Given the description of an element on the screen output the (x, y) to click on. 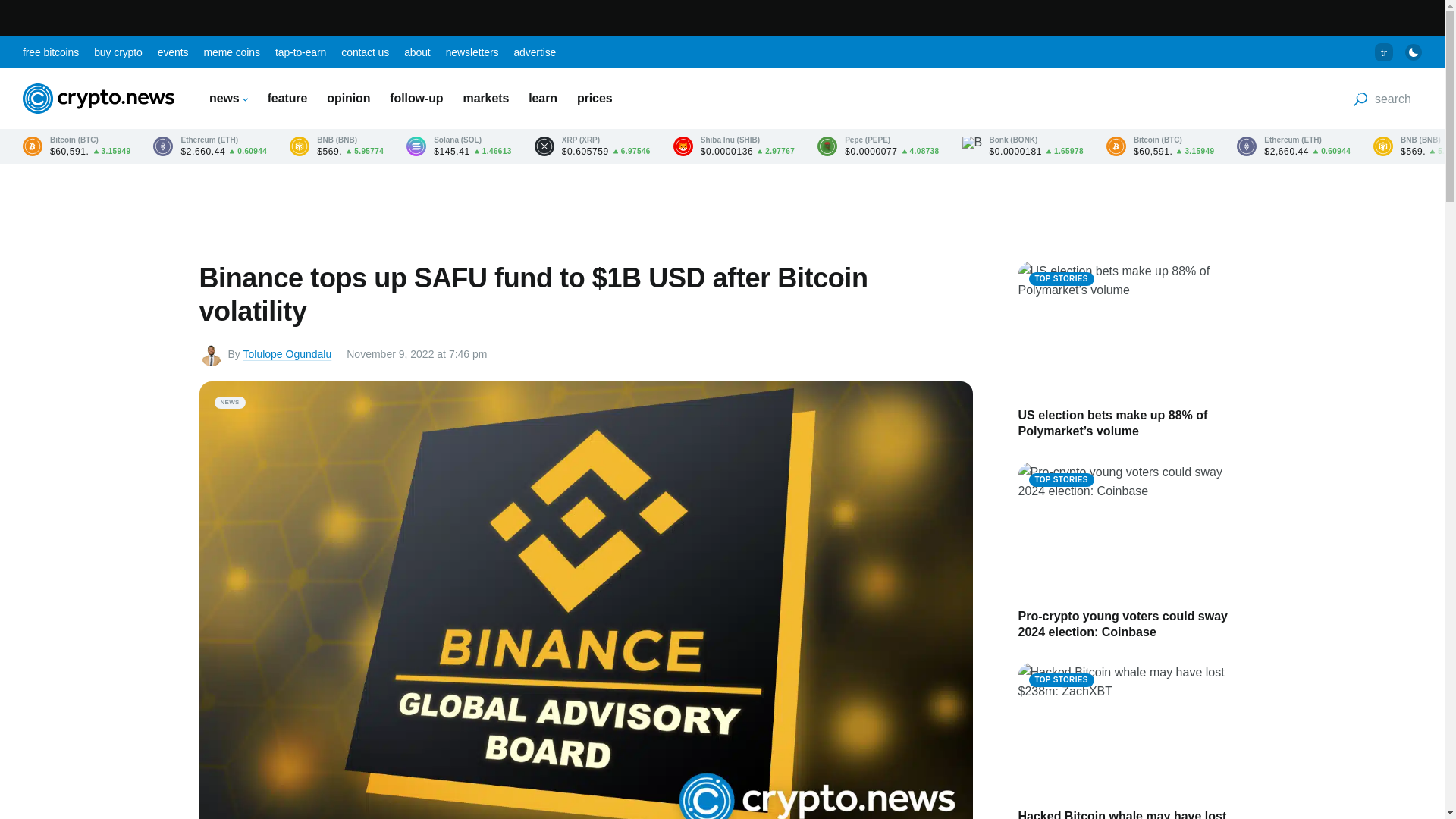
buy crypto (118, 51)
markets (486, 97)
Ethereum price (209, 145)
news (228, 97)
feature (287, 97)
tap-to-earn (300, 51)
free bitcoins (50, 51)
Bitcoin price (77, 145)
learn (542, 97)
prices (594, 97)
